Given the description of an element on the screen output the (x, y) to click on. 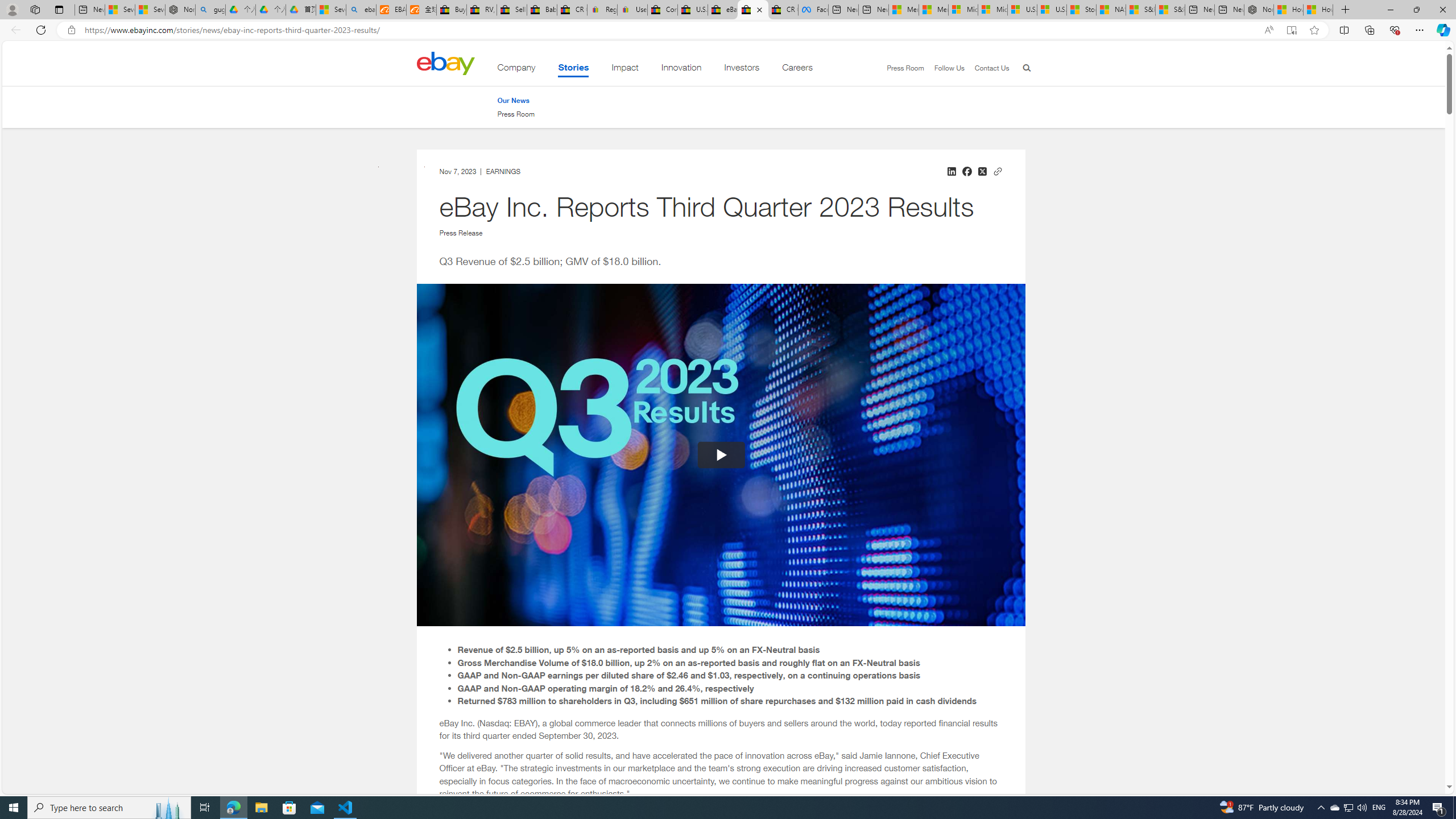
Register: Create a personal eBay account (601, 9)
Close (1442, 9)
Contact Us (991, 67)
Split screen (1344, 29)
Copy link to clipboard (997, 169)
Facebook (812, 9)
Buy Auto Parts & Accessories | eBay (450, 9)
User Privacy Notice | eBay (632, 9)
S&P 500, Nasdaq end lower, weighed by Nvidia dip | Watch (1169, 9)
Stories (573, 69)
Copilot (Ctrl+Shift+.) (1442, 29)
